Given the description of an element on the screen output the (x, y) to click on. 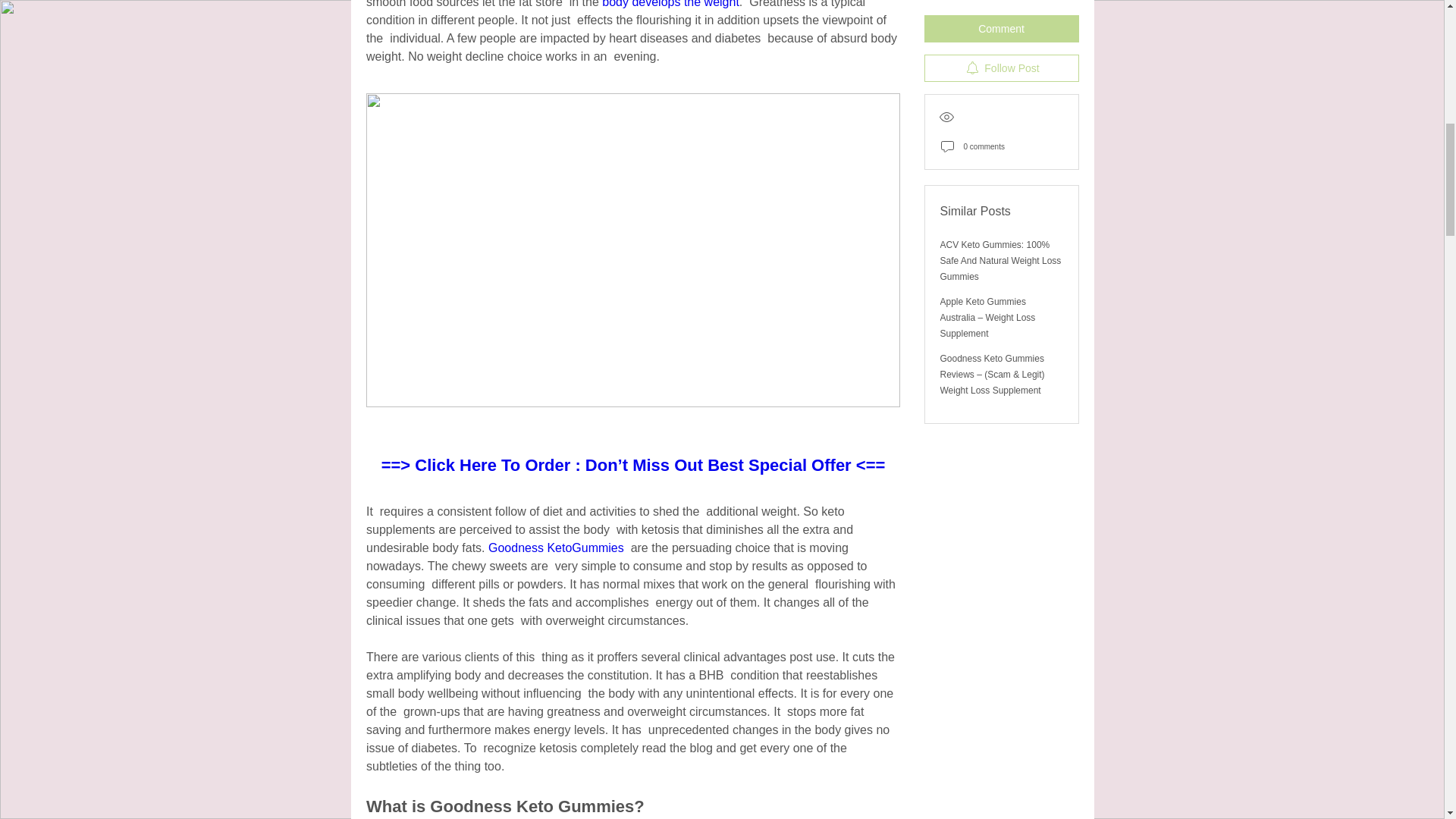
Goodness KetoGummies (555, 547)
body develops the weight (670, 4)
